Given the description of an element on the screen output the (x, y) to click on. 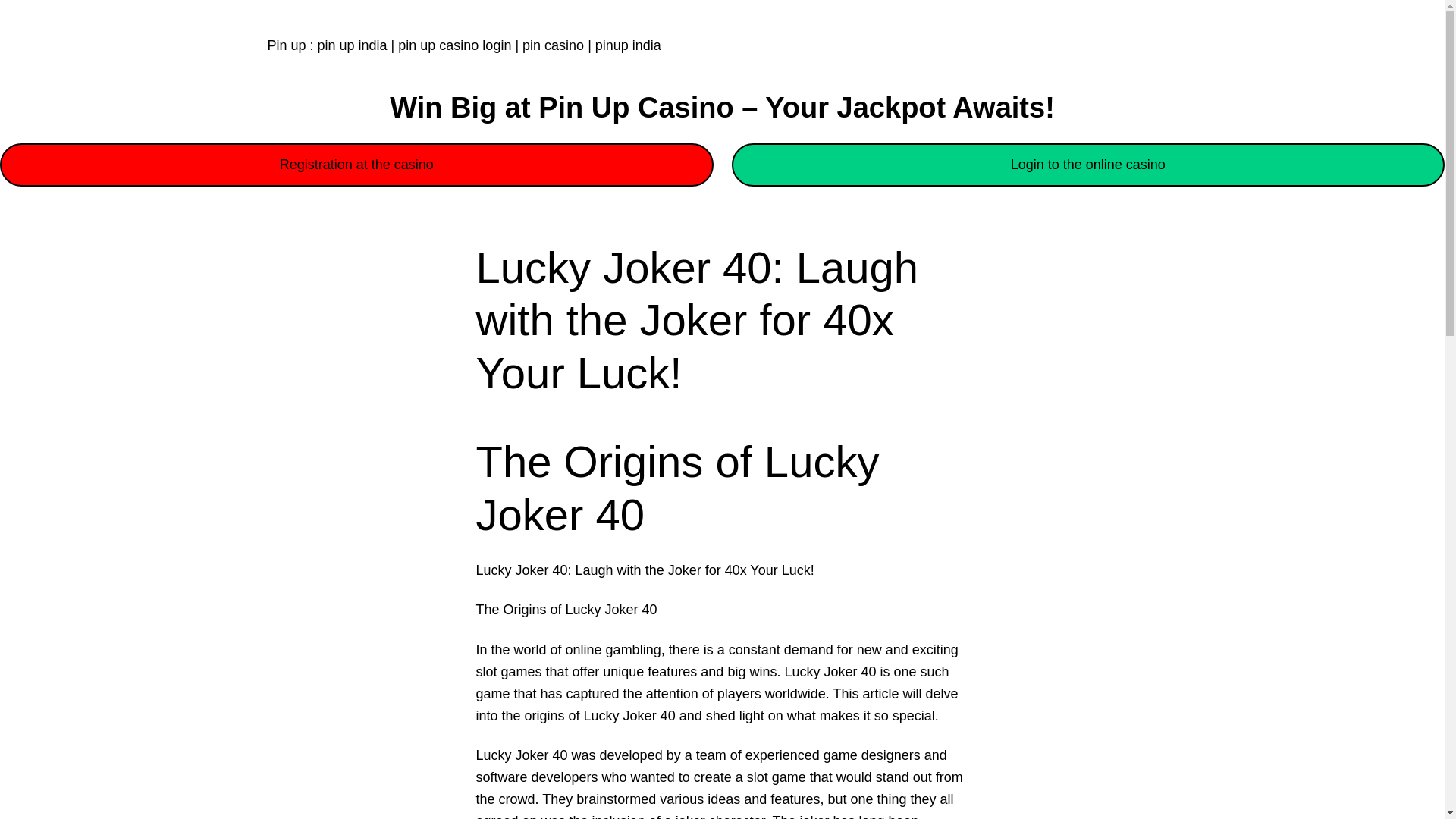
Registration at the casino (356, 164)
